Given the description of an element on the screen output the (x, y) to click on. 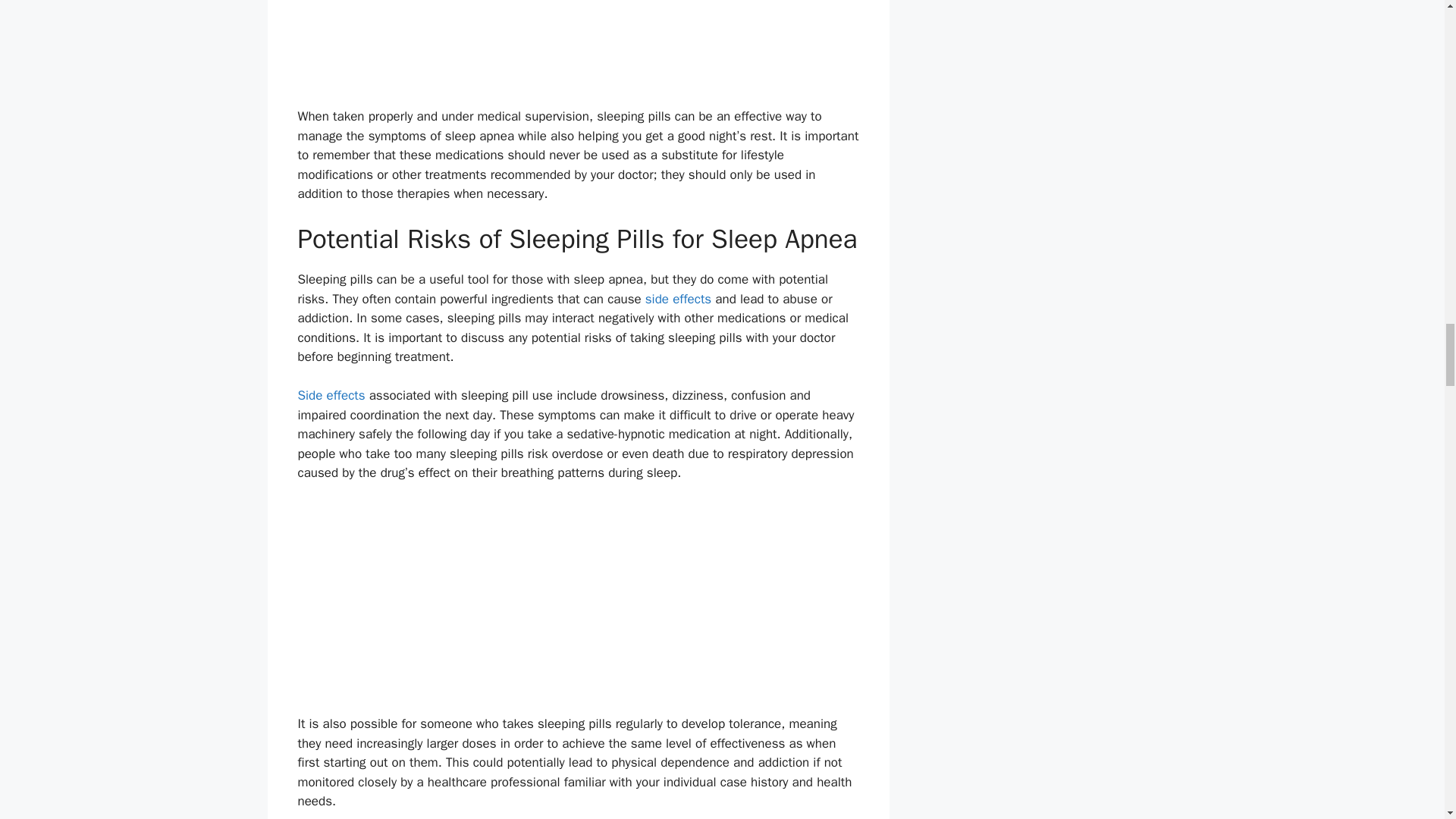
Side effects (331, 395)
side effects (678, 299)
Side effects (331, 395)
side effects (678, 299)
